Given the description of an element on the screen output the (x, y) to click on. 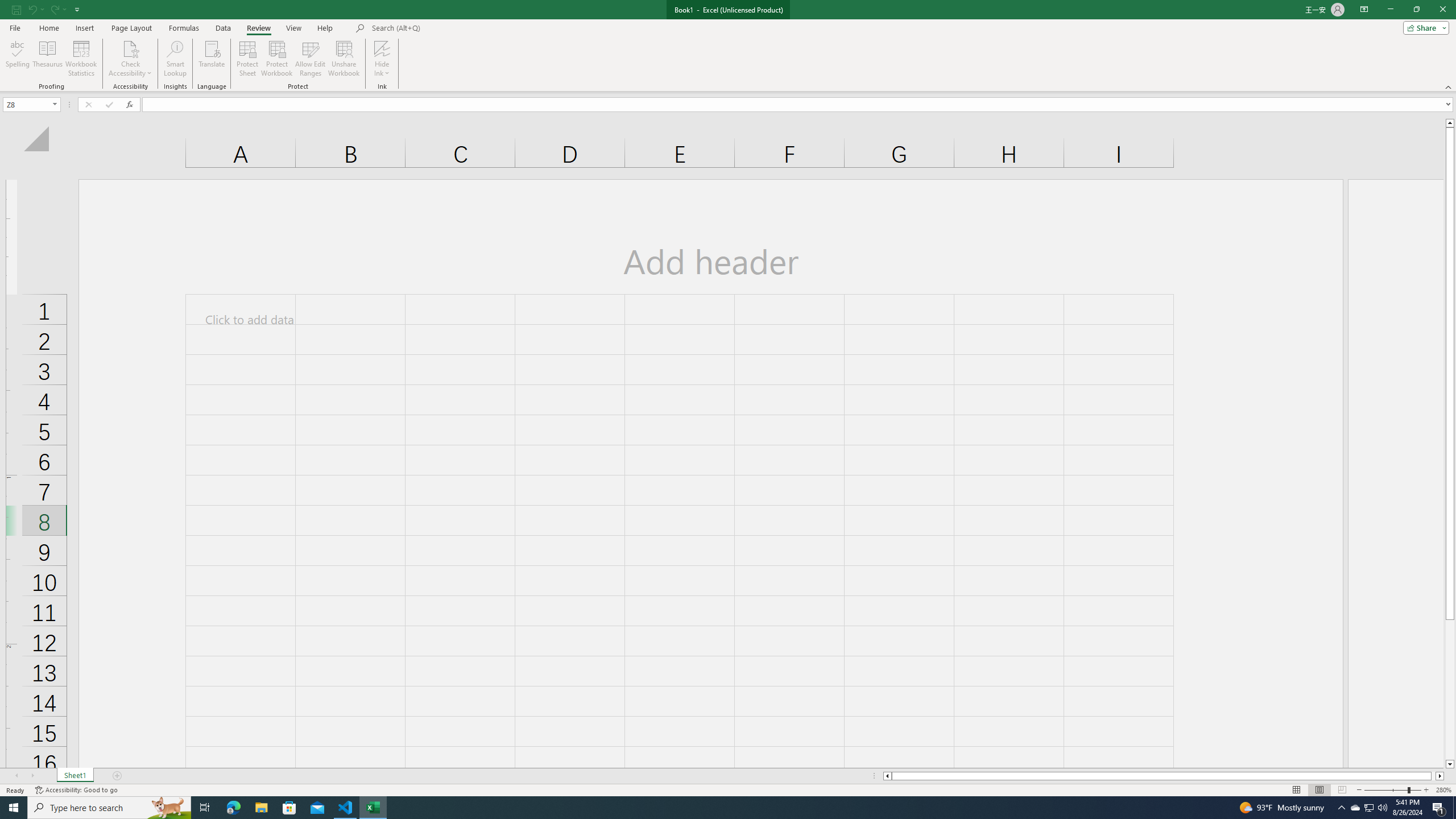
Spelling... (17, 58)
Check Accessibility (129, 48)
